Given the description of an element on the screen output the (x, y) to click on. 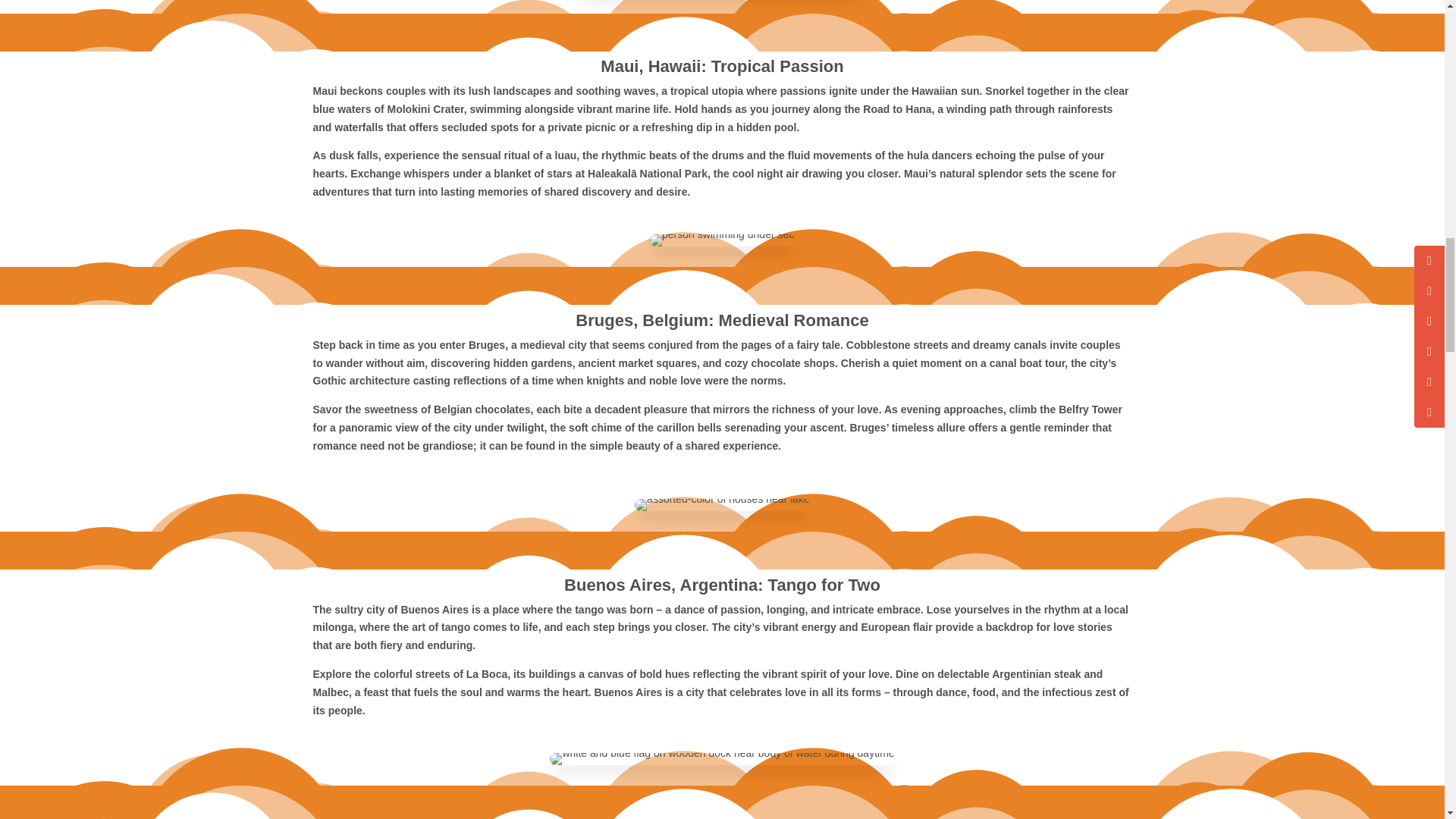
Photo by Alex Vasey (721, 504)
Yellowstone National Park (721, 758)
Photo by Cristian Palmer (721, 240)
